Given the description of an element on the screen output the (x, y) to click on. 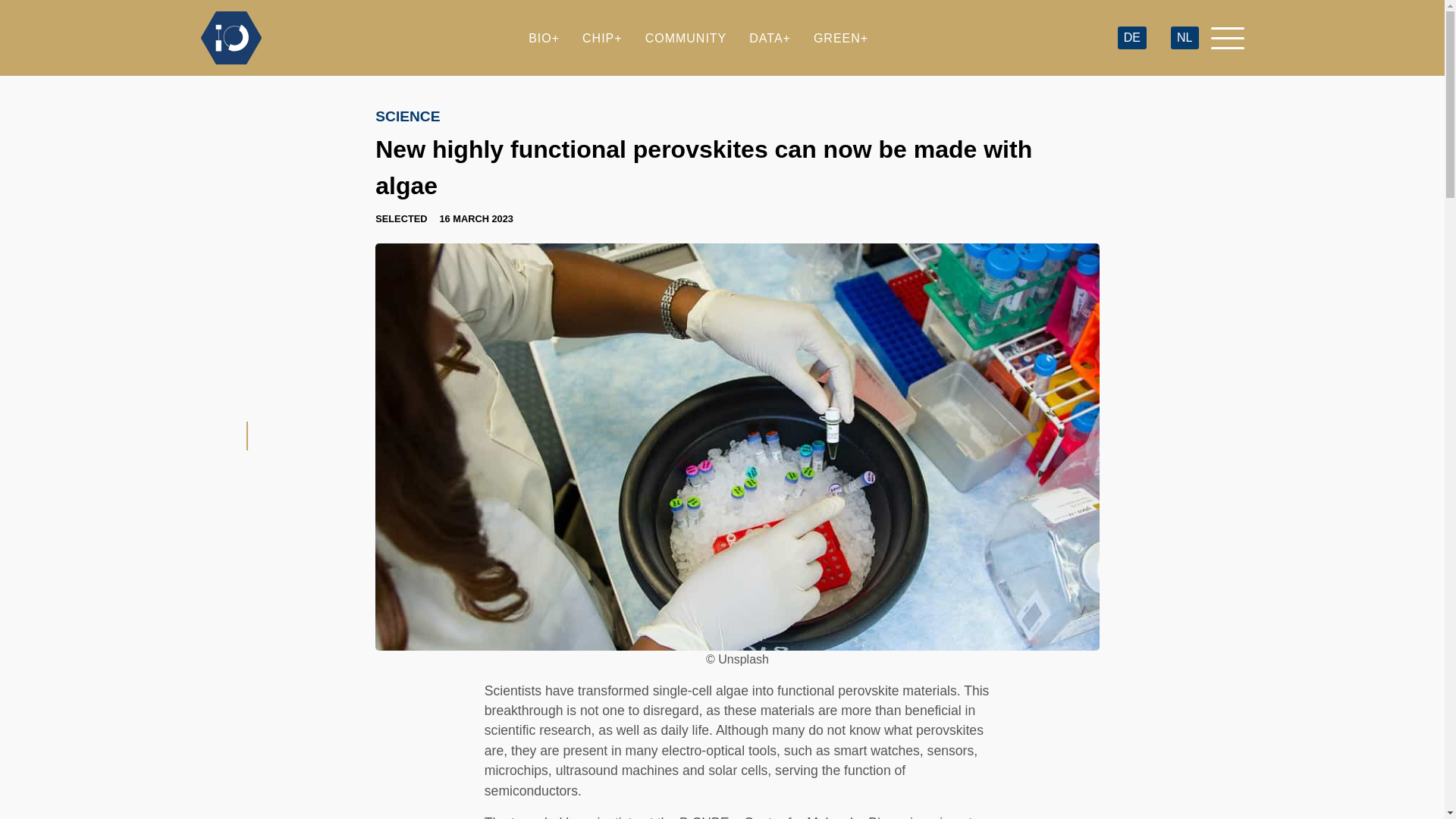
SCIENCE (407, 116)
COMMUNITY (685, 38)
DE (1132, 37)
NL (1184, 37)
